Given the description of an element on the screen output the (x, y) to click on. 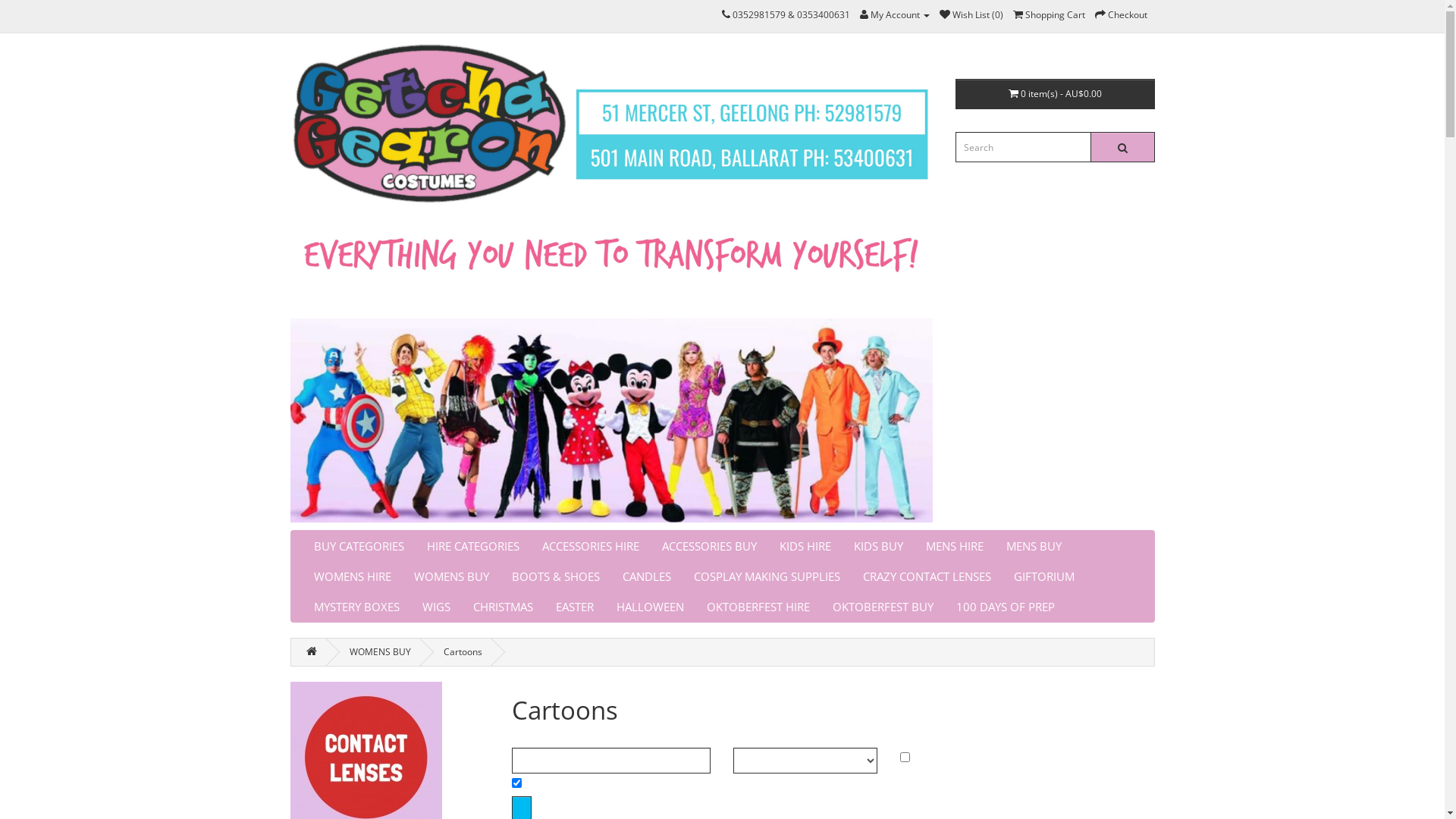
BUY CATEGORIES Element type: text (357, 545)
KIDS BUY Element type: text (877, 545)
Getcha Gearon Costumes  Element type: hover (610, 281)
CHRISTMAS Element type: text (502, 606)
OKTOBERFEST HIRE Element type: text (757, 606)
MENS BUY Element type: text (1033, 545)
WOMENS BUY Element type: text (450, 576)
0 item(s) - AU$0.00 Element type: text (1054, 93)
KIDS HIRE Element type: text (804, 545)
100 DAYS OF PREP Element type: text (1005, 606)
GIFTORIUM Element type: text (1043, 576)
ACCESSORIES HIRE Element type: text (590, 545)
My Account Element type: text (894, 14)
WOMENS BUY Element type: text (379, 651)
Checkout Element type: text (1121, 14)
BOOTS & SHOES Element type: text (555, 576)
MYSTERY BOXES Element type: text (355, 606)
WOMENS HIRE Element type: text (351, 576)
COSPLAY MAKING SUPPLIES Element type: text (766, 576)
EASTER Element type: text (574, 606)
WIGS Element type: text (436, 606)
CANDLES Element type: text (646, 576)
OKTOBERFEST BUY Element type: text (882, 606)
ACCESSORIES BUY Element type: text (709, 545)
CRAZY CONTACT LENSES Element type: text (925, 576)
Wish List (0) Element type: text (970, 14)
HALLOWEEN Element type: text (650, 606)
Shopping Cart Element type: text (1049, 14)
HIRE CATEGORIES Element type: text (472, 545)
Cartoons Element type: text (461, 651)
MENS HIRE Element type: text (954, 545)
